Given the description of an element on the screen output the (x, y) to click on. 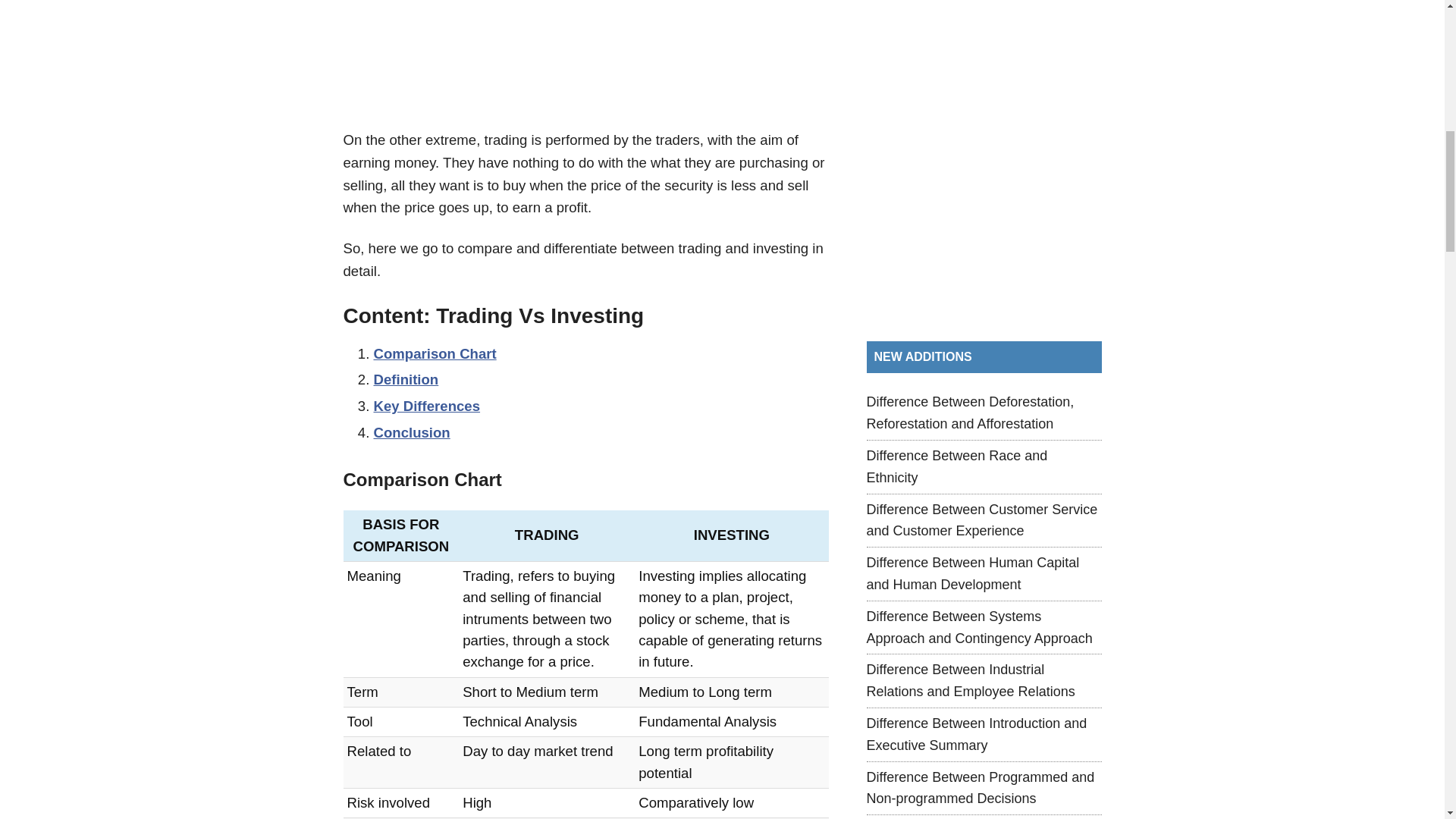
Difference Between Race and Ethnicity (956, 466)
Advertisement (584, 53)
Definition (405, 379)
Difference Between Human Capital and Human Development (972, 573)
Conclusion (410, 432)
Key Differences (426, 406)
Difference Between Systems Approach and Contingency Approach (979, 627)
Comparison Chart (434, 353)
Difference Between Customer Service and Customer Experience (981, 520)
